Given the description of an element on the screen output the (x, y) to click on. 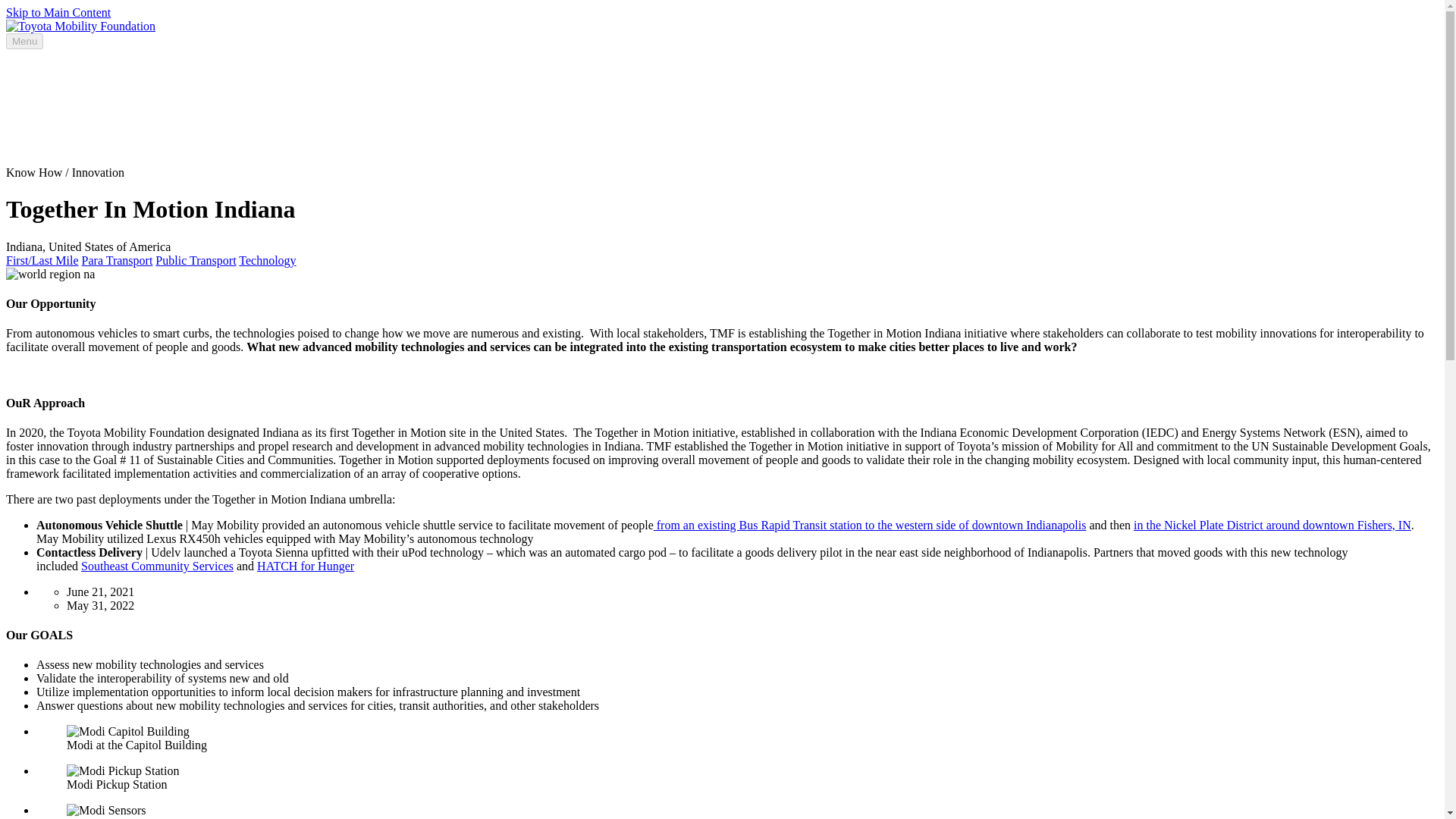
HATCH for Hunger (305, 565)
Public Transport (195, 259)
Menu (24, 41)
in the Nickel Plate District around downtown Fishers, IN (1272, 524)
Southeast Community Services (156, 565)
Technology (266, 259)
Para Transport (116, 259)
Skip to Main Content (57, 11)
